Given the description of an element on the screen output the (x, y) to click on. 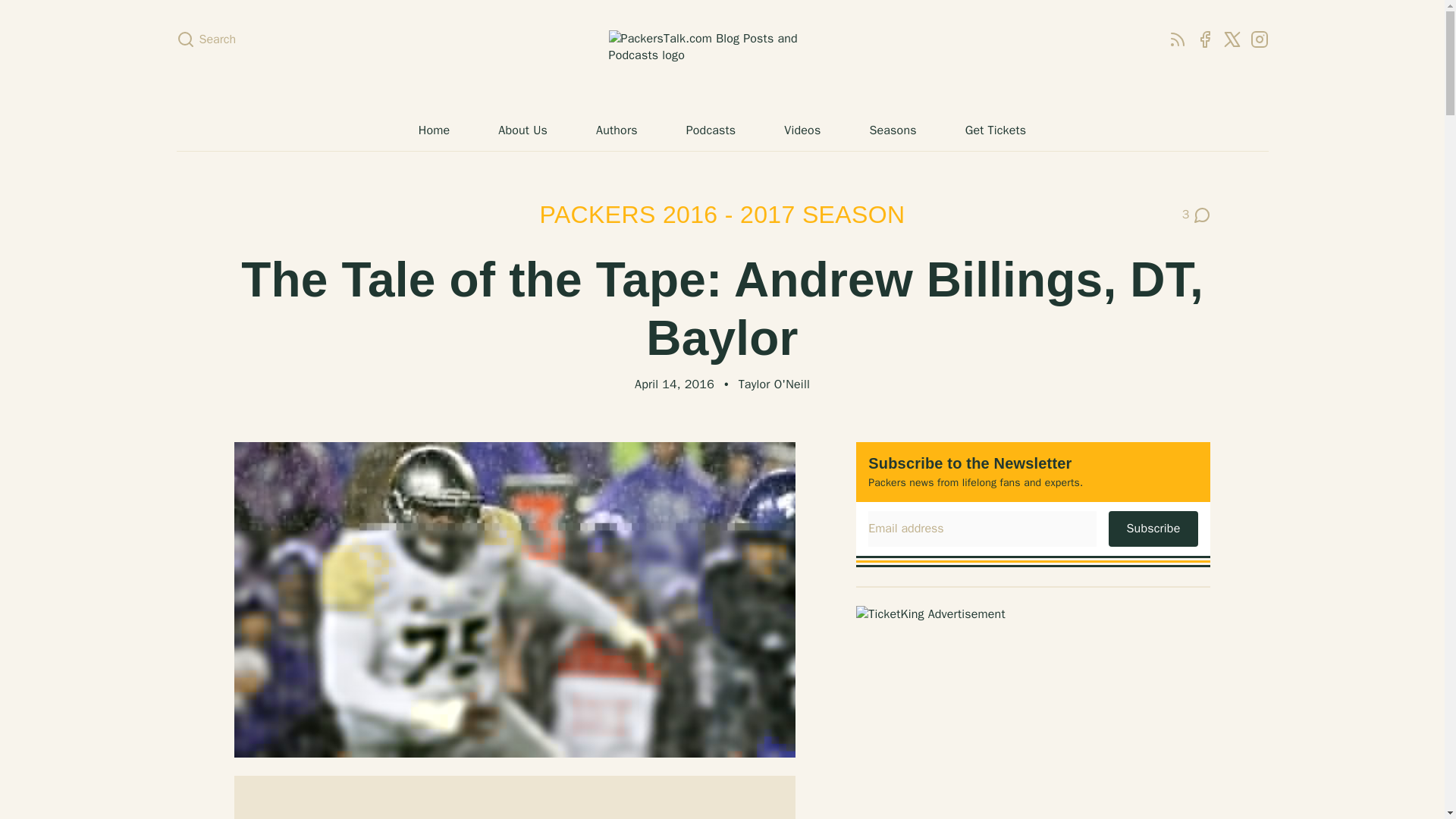
Comments (1196, 215)
PACKERS 2016 - 2017 SEASON (722, 214)
Seasons (892, 129)
Videos (802, 129)
Subscribe (1153, 528)
PackersTalk on Instagram (1196, 215)
PackersTalk.com Blog Posts and Podcasts (1258, 39)
PackersTalk on Facebook (722, 56)
Instagram (1203, 39)
